Given the description of an element on the screen output the (x, y) to click on. 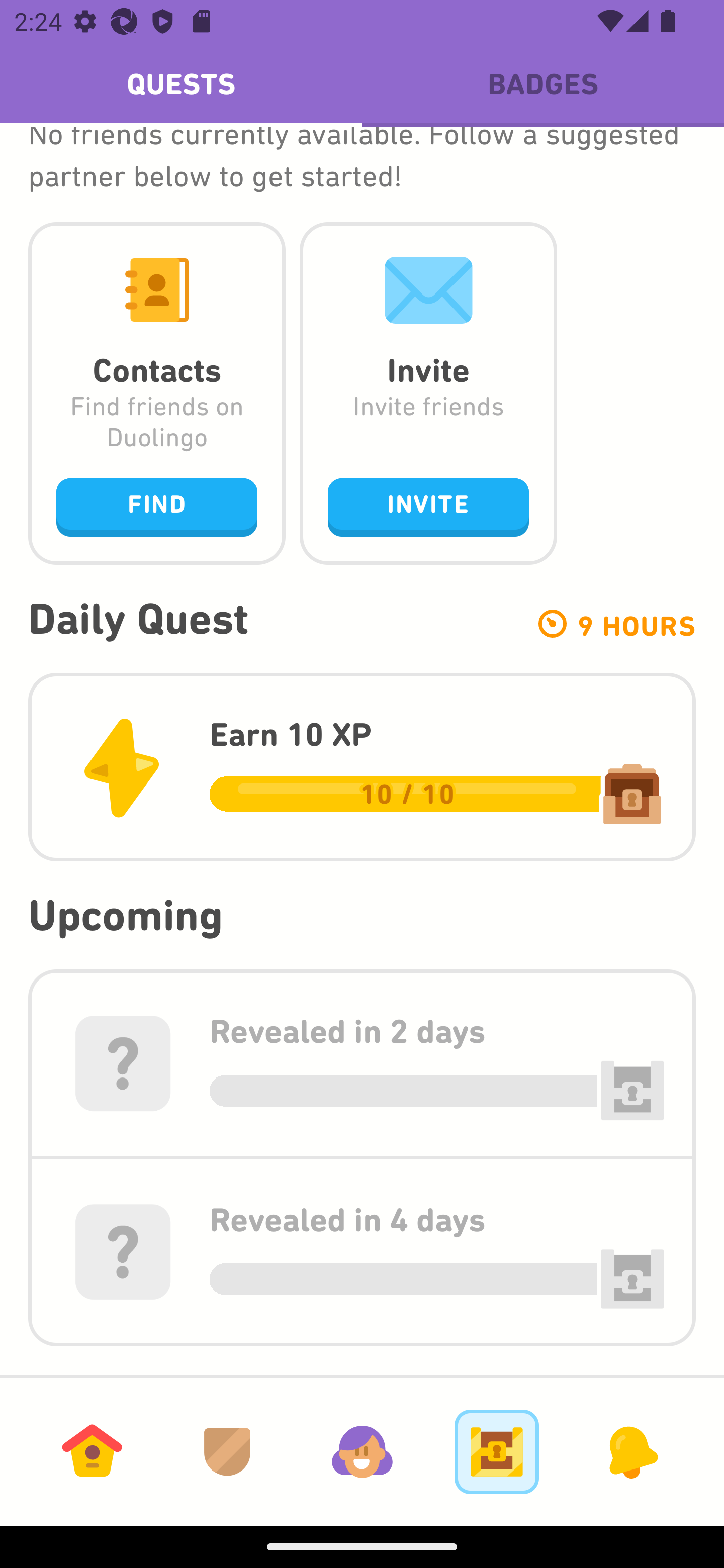
BADGES (543, 84)
FIND (156, 507)
INVITE (428, 507)
Learn Tab (91, 1451)
Leagues Tab (227, 1451)
Profile Tab (361, 1451)
Goals Tab (496, 1451)
News Tab (631, 1451)
